Given the description of an element on the screen output the (x, y) to click on. 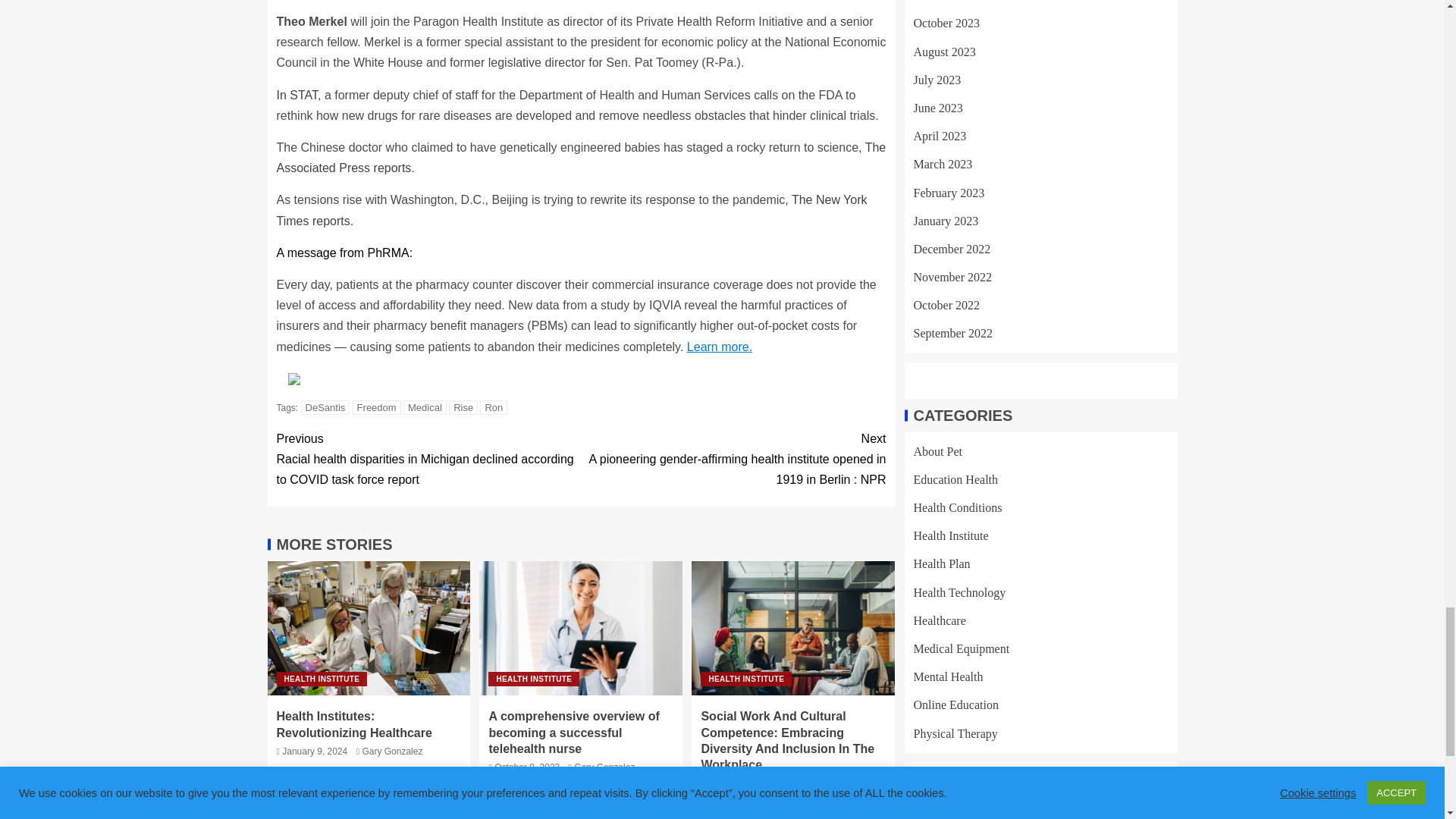
The Associated Press reports (580, 157)
The New York Times reports (571, 209)
In STAT (296, 94)
Health Institutes: Revolutionizing Healthcare (368, 628)
Learn more. (719, 346)
Ron (493, 407)
DeSantis (325, 407)
Medical (424, 407)
